Given the description of an element on the screen output the (x, y) to click on. 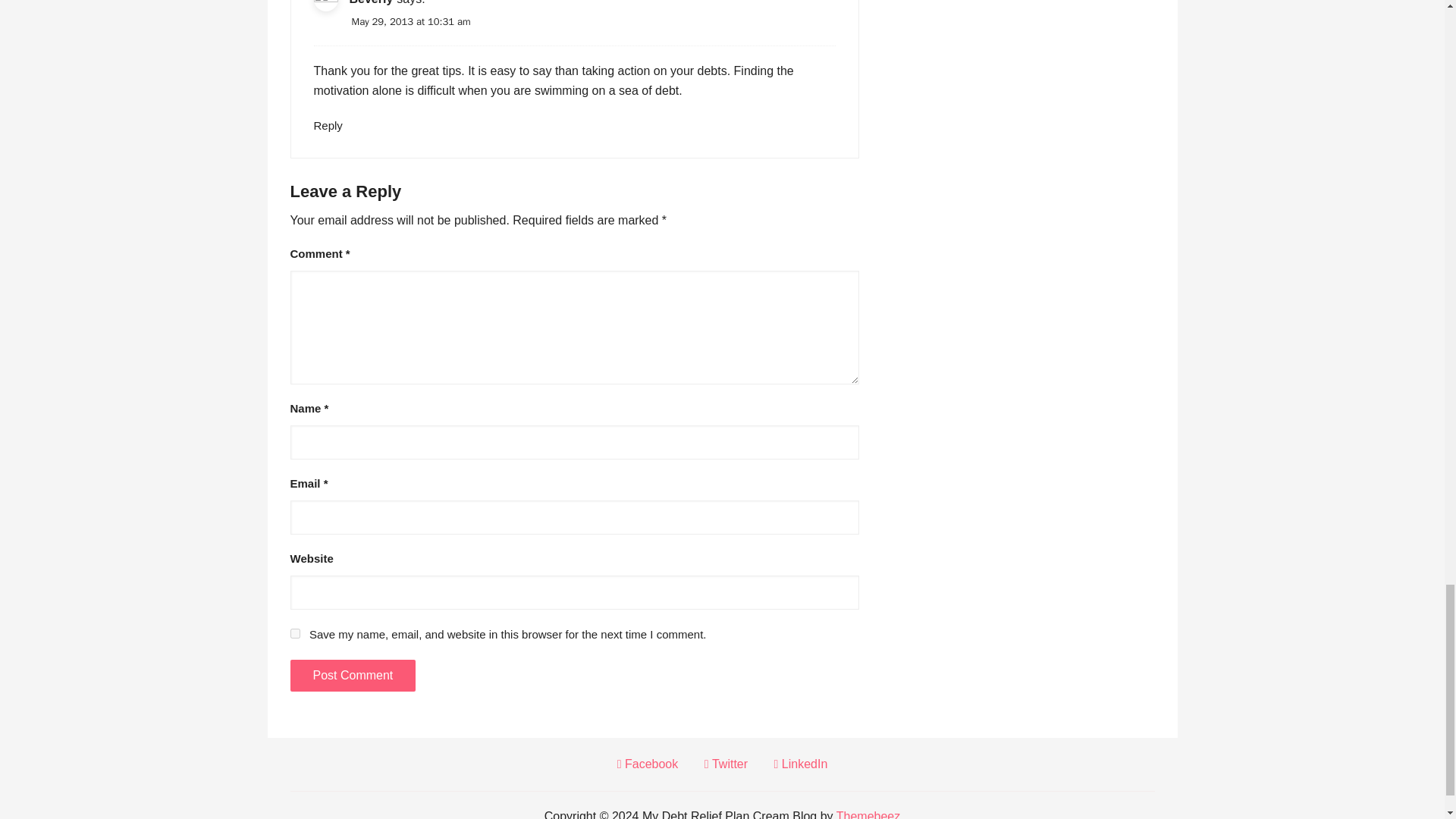
yes (294, 633)
Post Comment (351, 675)
